Given the description of an element on the screen output the (x, y) to click on. 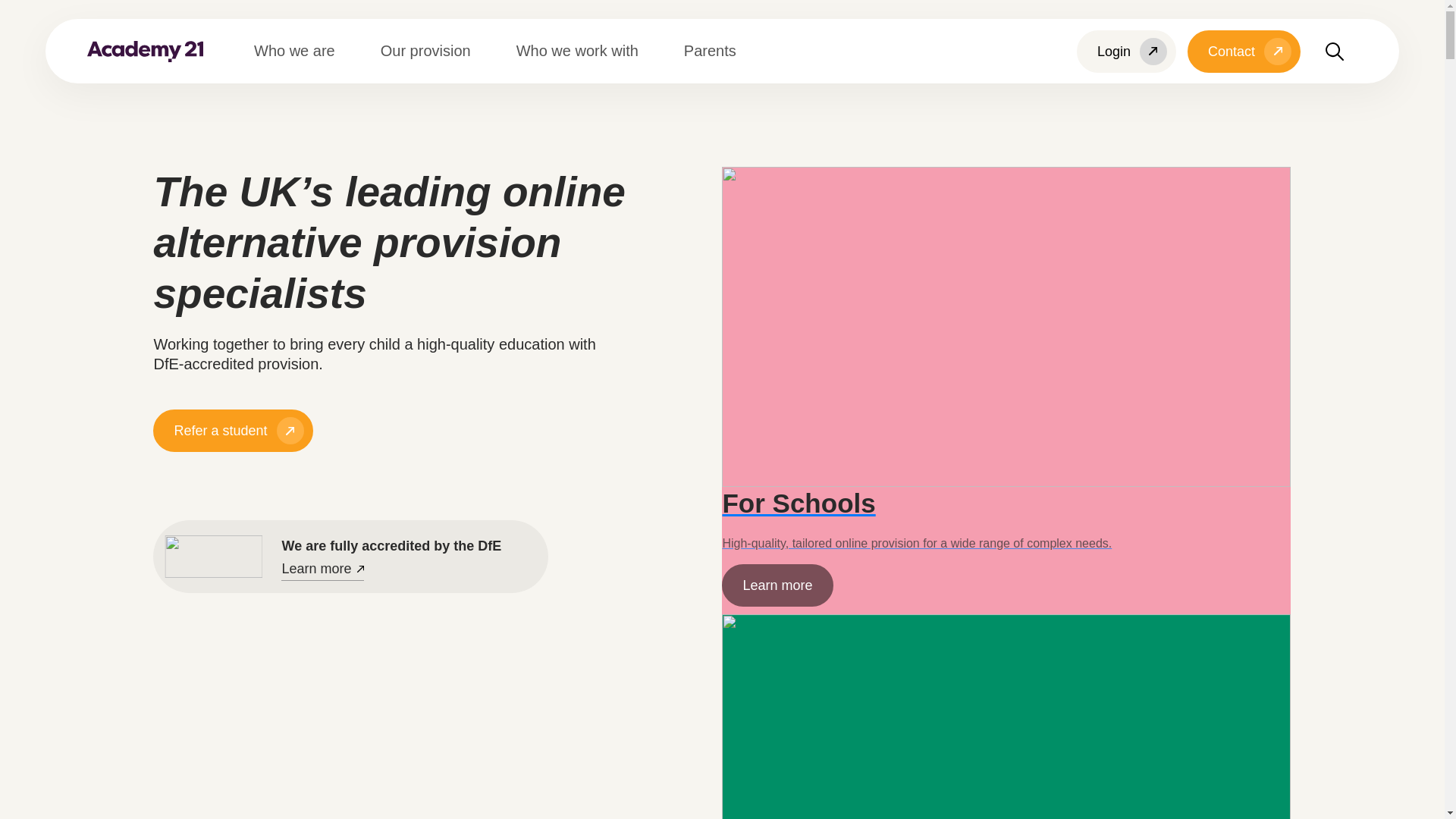
Login (1126, 51)
Search (1333, 51)
Who we work with (584, 50)
Our provision (433, 50)
Contact (1244, 51)
Parents (717, 50)
Who we are (301, 50)
